Given the description of an element on the screen output the (x, y) to click on. 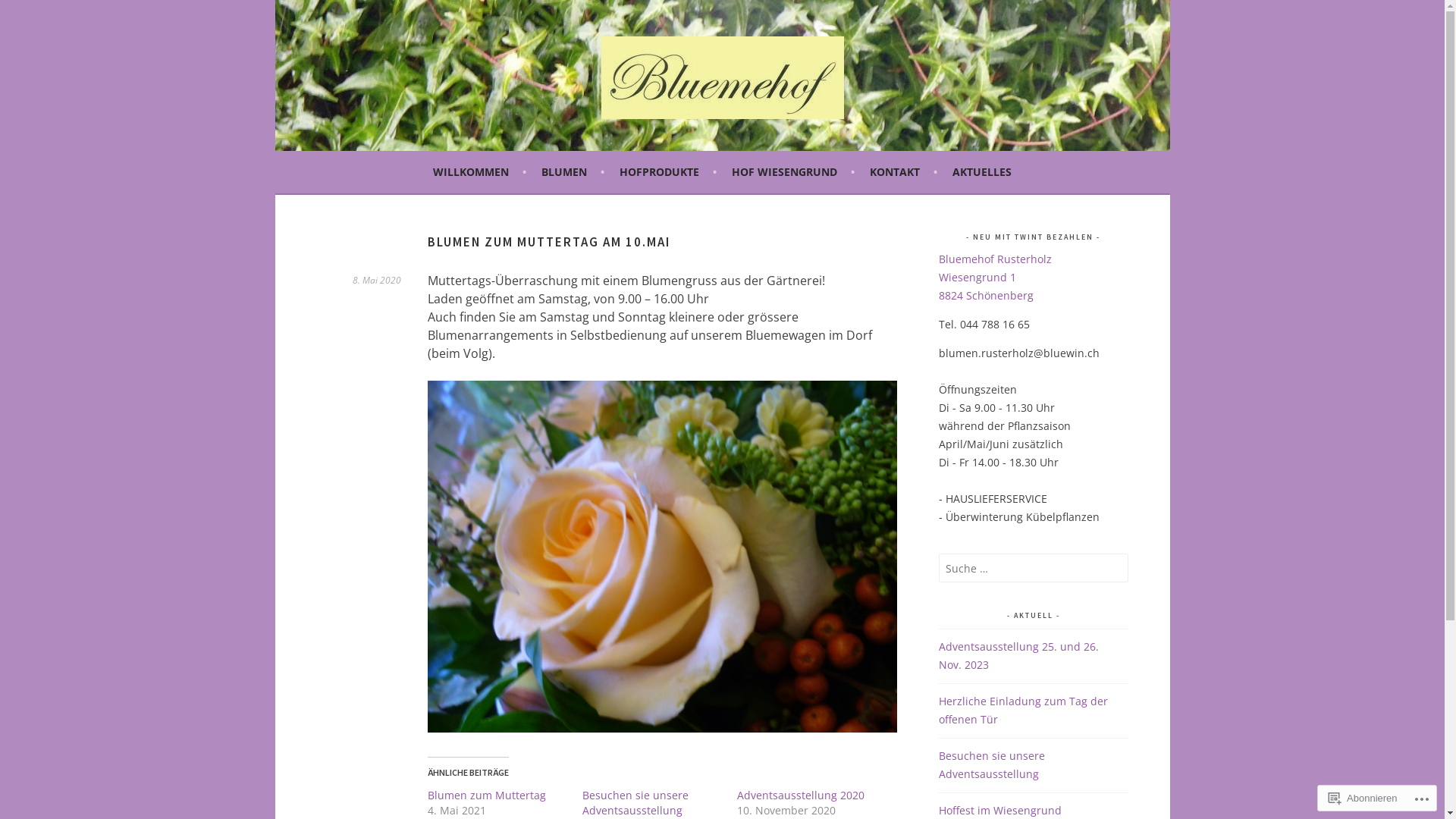
Hoffest im Wiesengrund Element type: text (999, 810)
HOF WIESENGRUND Element type: text (792, 172)
AKTUELLES Element type: text (981, 172)
Adventsausstellung 25. und 26. Nov. 2023 Element type: text (1018, 655)
HOFPRODUKTE Element type: text (667, 172)
Besuchen sie unsere Adventsausstellung Element type: text (991, 764)
KONTAKT Element type: text (903, 172)
BLUEMEHOF Element type: text (374, 148)
8. Mai 2020 Element type: text (375, 279)
WILLKOMMEN Element type: text (479, 172)
Adventsausstellung 2020 Element type: text (800, 794)
Besuchen sie unsere Adventsausstellung Element type: text (635, 802)
Blumen zum Muttertag Element type: text (486, 794)
Abonnieren Element type: text (1362, 797)
BLUMEN Element type: text (572, 172)
Suche Element type: text (26, 13)
